Given the description of an element on the screen output the (x, y) to click on. 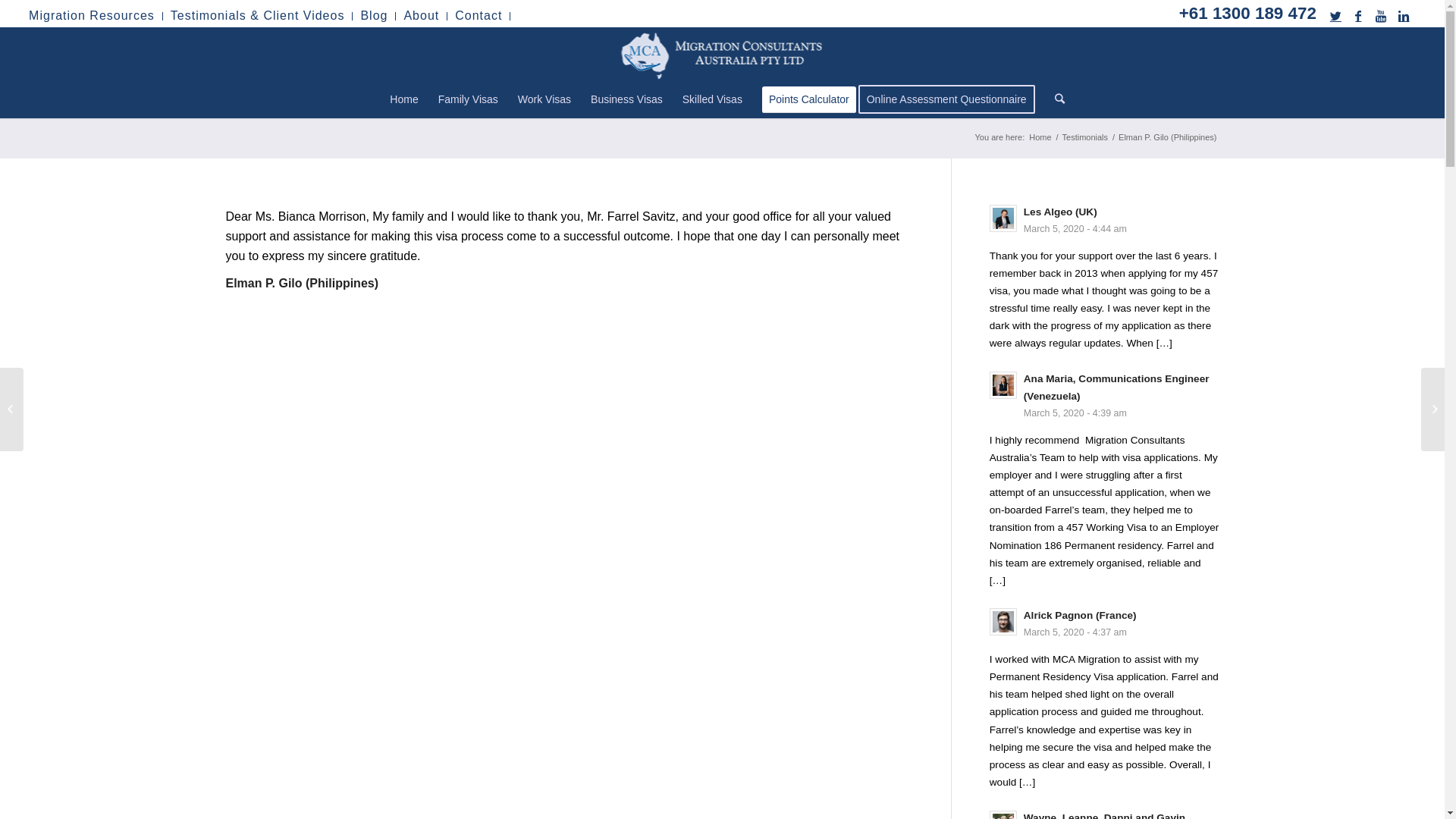
Work Visas Element type: text (544, 99)
Testimonials & Client Videos Element type: text (257, 15)
Linkedin Element type: hover (1404, 15)
Skilled Visas Element type: text (712, 99)
Blog Element type: text (373, 15)
Youtube Element type: hover (1381, 15)
+61 1300 189 472 Element type: text (1247, 12)
Contact Element type: text (478, 15)
Online Assessment Questionnaire Element type: text (951, 99)
Points Calculator Element type: text (809, 99)
About Element type: text (421, 15)
Business Visas Element type: text (626, 99)
Migration Resources Element type: text (91, 15)
Twitter Element type: hover (1335, 15)
Home Element type: text (403, 99)
Facebook Element type: hover (1358, 15)
Home Element type: text (1039, 137)
Testimonials Element type: text (1085, 137)
Family Visas Element type: text (468, 99)
Les Algeo (UK)
March 5, 2020 - 4:44 am Element type: text (1104, 219)
Alrick Pagnon (France)
March 5, 2020 - 4:37 am Element type: text (1104, 623)
